Given the description of an element on the screen output the (x, y) to click on. 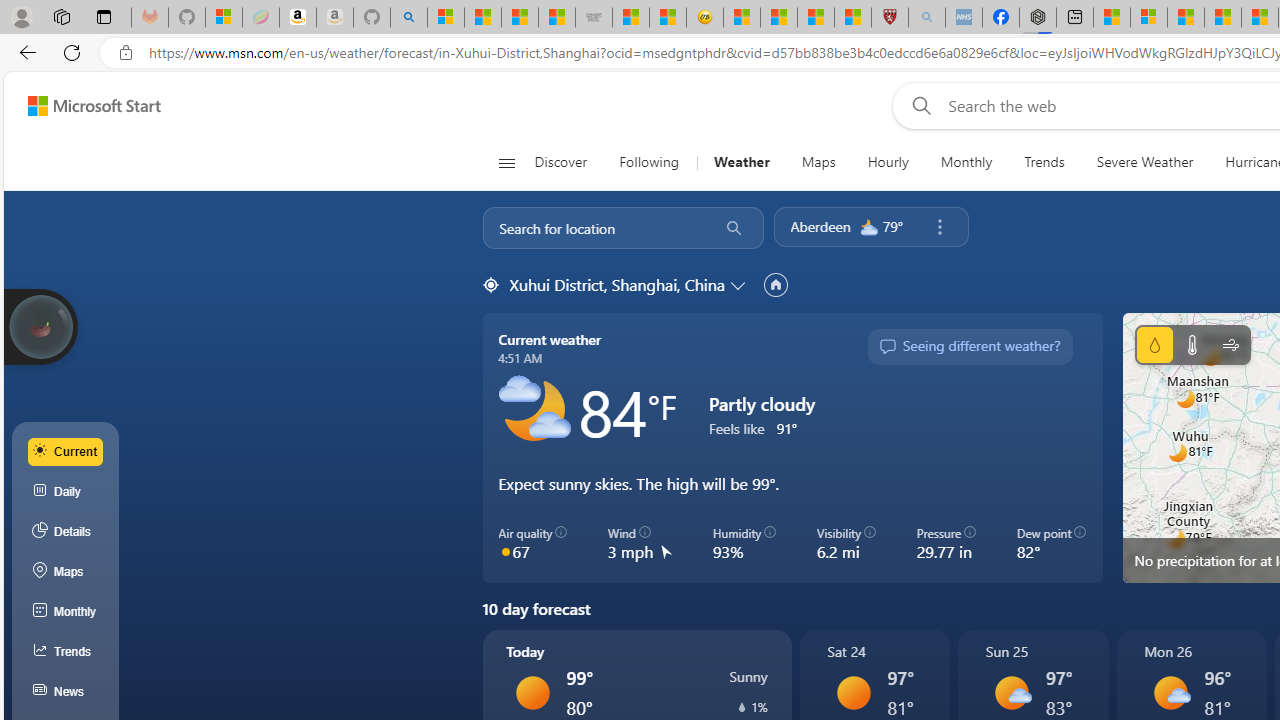
Recipes - MSN (742, 17)
Severe Weather (1144, 162)
Nordace - Nordace Siena Is Not An Ordinary Backpack (1037, 17)
Seeing different weather? (969, 347)
Daily (65, 492)
Humidity 93% (743, 543)
Pressure 29.77 in (946, 543)
Class: button-glyph (505, 162)
Remove location (939, 227)
